Given the description of an element on the screen output the (x, y) to click on. 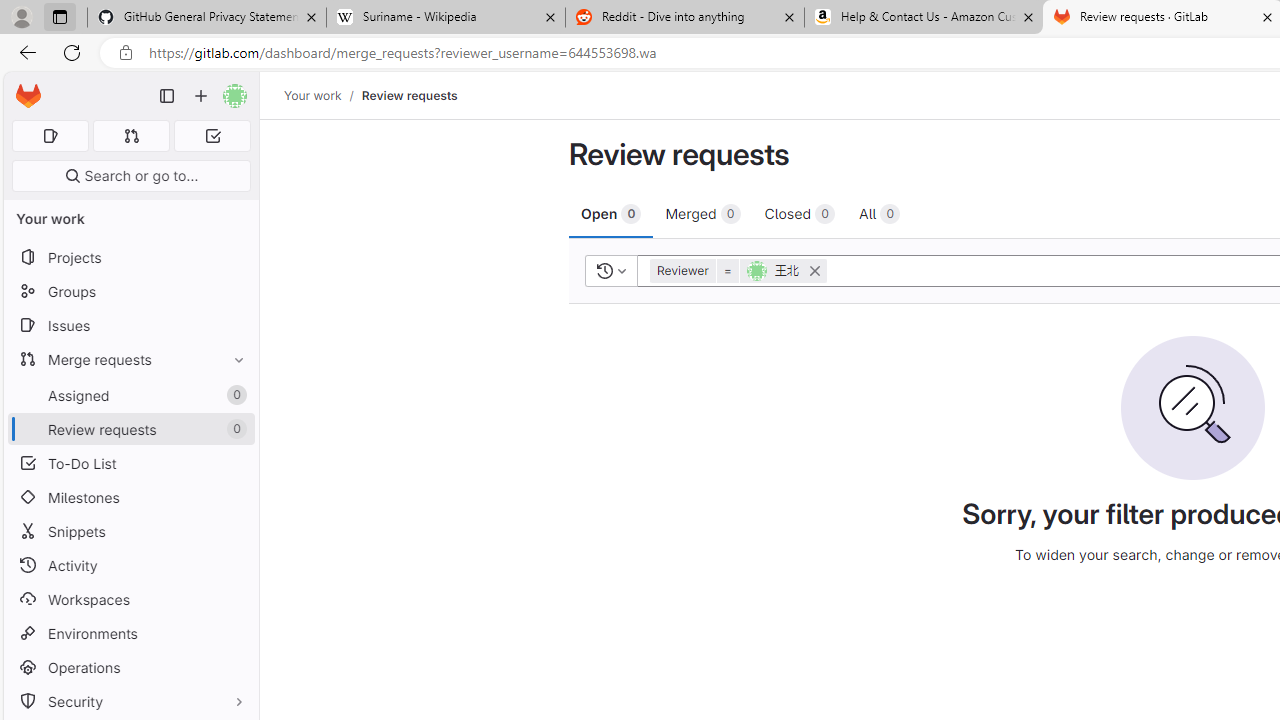
Create new... (201, 96)
Your work (312, 95)
Operations (130, 667)
Open 0 (611, 213)
To-Do list 0 (212, 136)
Assigned0 (130, 394)
Merge requestsAssigned0Review requests0 (130, 393)
Assigned issues 0 (50, 136)
Groups (130, 291)
Security (130, 700)
